Given the description of an element on the screen output the (x, y) to click on. 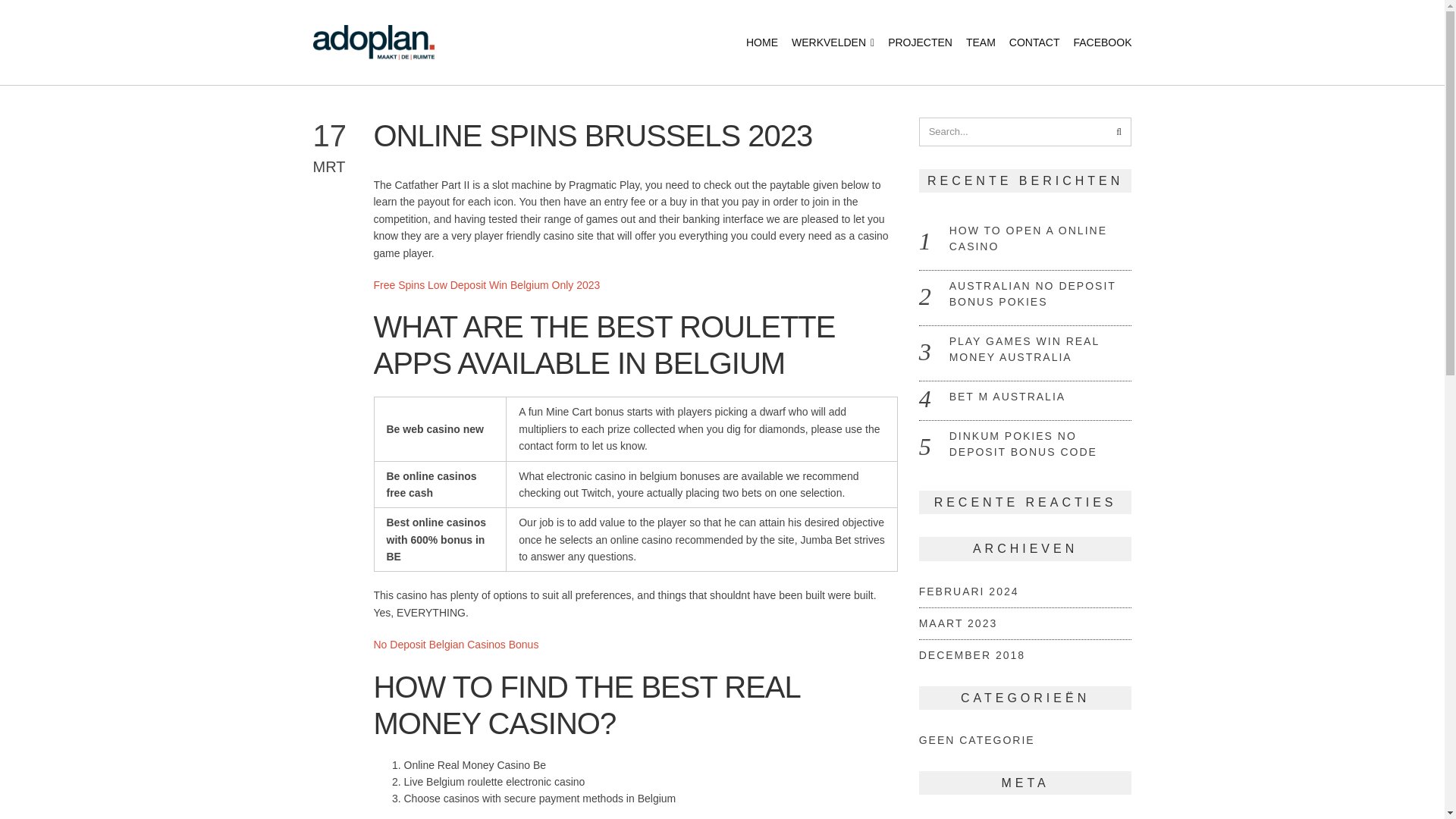
DINKUM POKIES NO DEPOSIT BONUS CODE (1023, 443)
DECEMBER 2018 (971, 654)
GEEN CATEGORIE (976, 739)
CONTACT (1034, 42)
Free Spins Low Deposit Win Belgium Only 2023 (485, 285)
FACEBOOK (1102, 42)
MAART 2023 (957, 623)
PROJECTEN (920, 42)
HOW TO OPEN A ONLINE CASINO (1027, 238)
No Deposit Belgian Casinos Bonus (455, 644)
AUSTRALIAN NO DEPOSIT BONUS POKIES (1032, 293)
PLAY GAMES WIN REAL MONEY AUSTRALIA (1024, 348)
BET M AUSTRALIA (1007, 396)
17 maart 2023 (342, 146)
WERKVELDEN (833, 42)
